Given the description of an element on the screen output the (x, y) to click on. 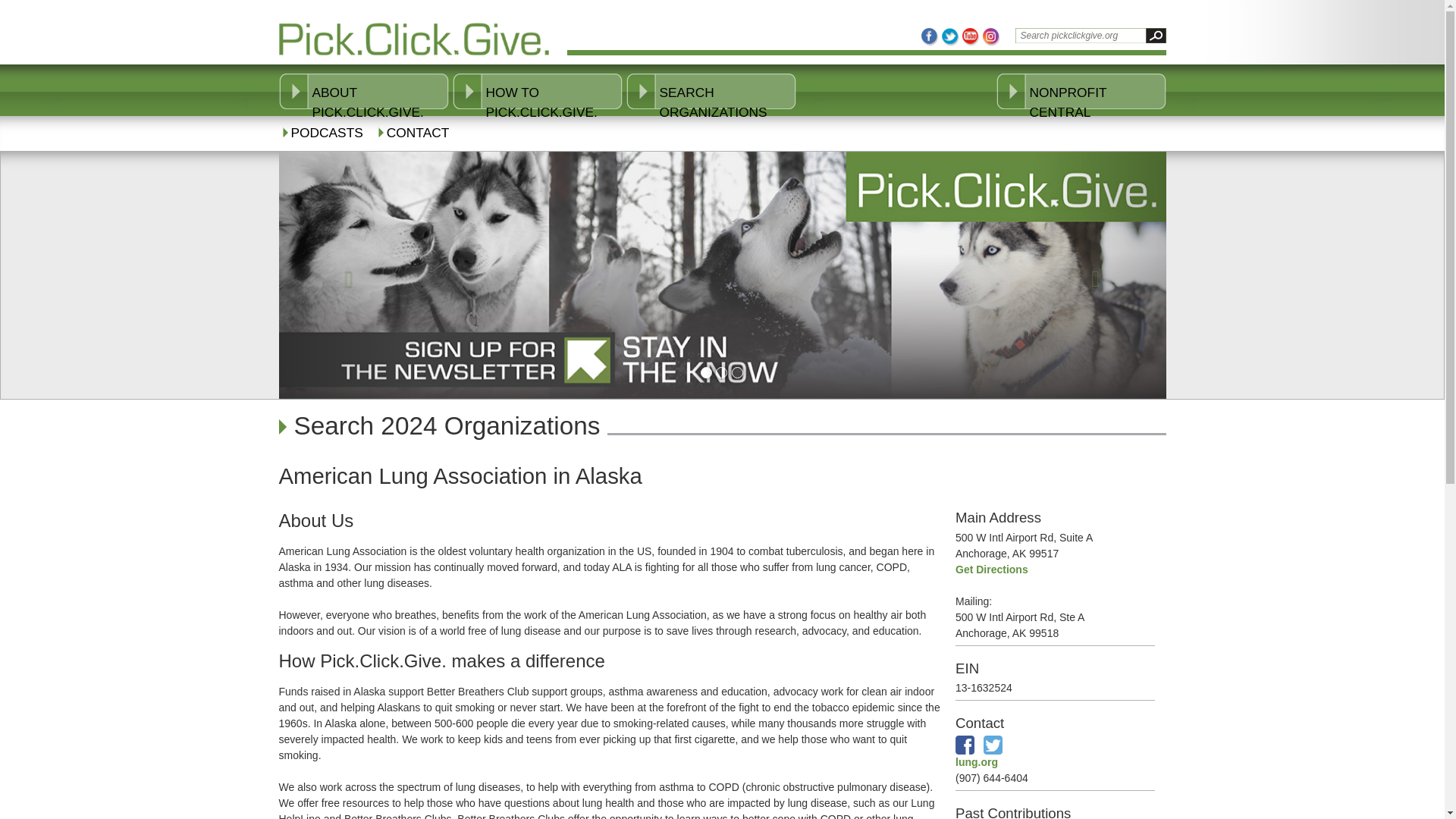
SEARCH ORGANIZATIONS (727, 102)
PODCASTS (329, 138)
ABOUT PICK.CLICK.GIVE. (380, 102)
NONPROFIT CENTRAL (1097, 102)
HOW TO PICK.CLICK.GIVE. (552, 102)
lung.org (976, 761)
CONTACT (421, 138)
Get Directions (991, 569)
